Given the description of an element on the screen output the (x, y) to click on. 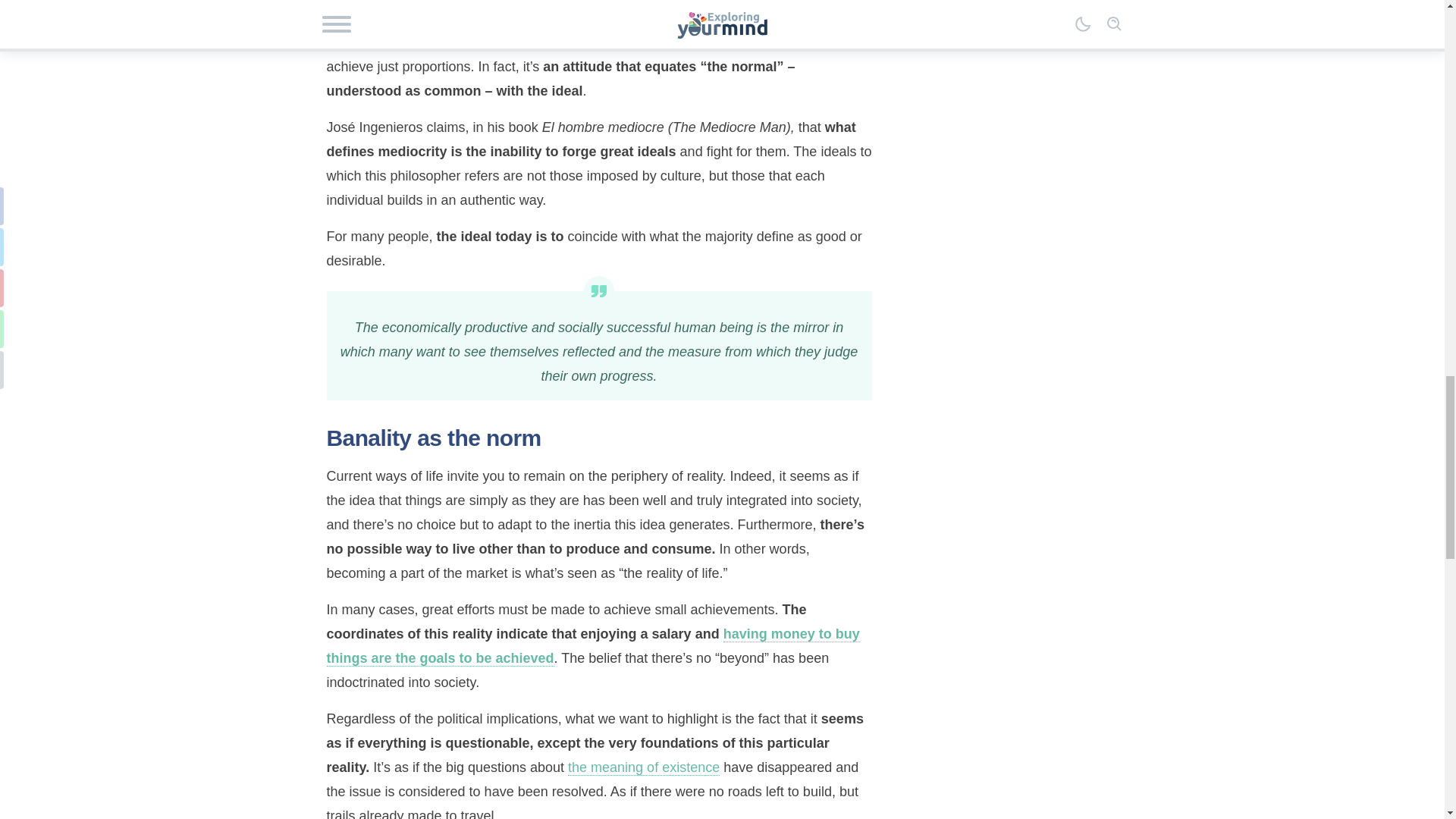
the meaning of existence (643, 767)
having money to buy things are the goals to be achieved (592, 646)
